Given the description of an element on the screen output the (x, y) to click on. 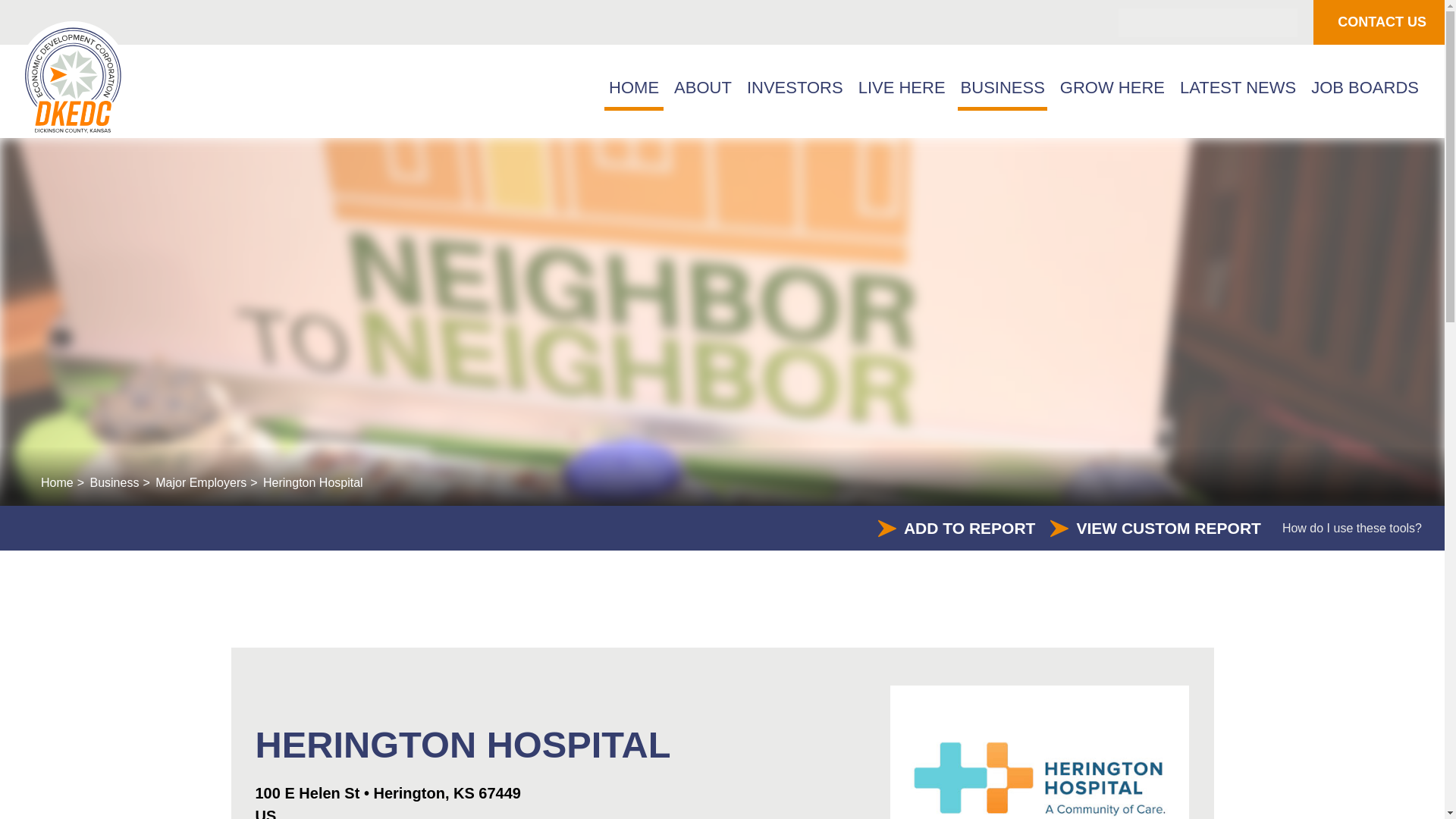
CONTACT US (1382, 22)
Click to contact us! (1382, 22)
LIVE HERE (901, 91)
INVESTORS (794, 91)
Search our site! (1209, 21)
